Given the description of an element on the screen output the (x, y) to click on. 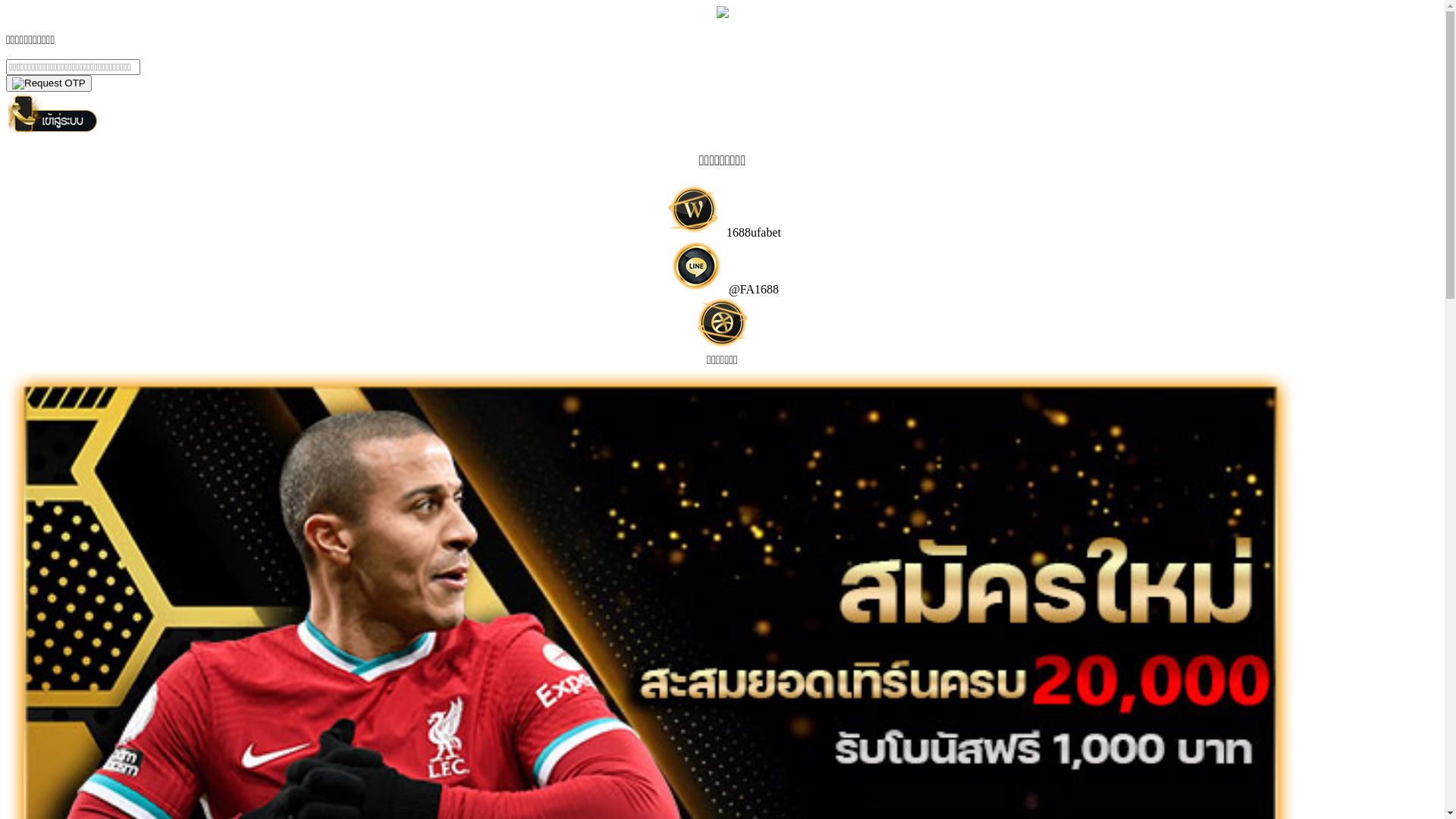
yes Element type: text (48, 83)
